Given the description of an element on the screen output the (x, y) to click on. 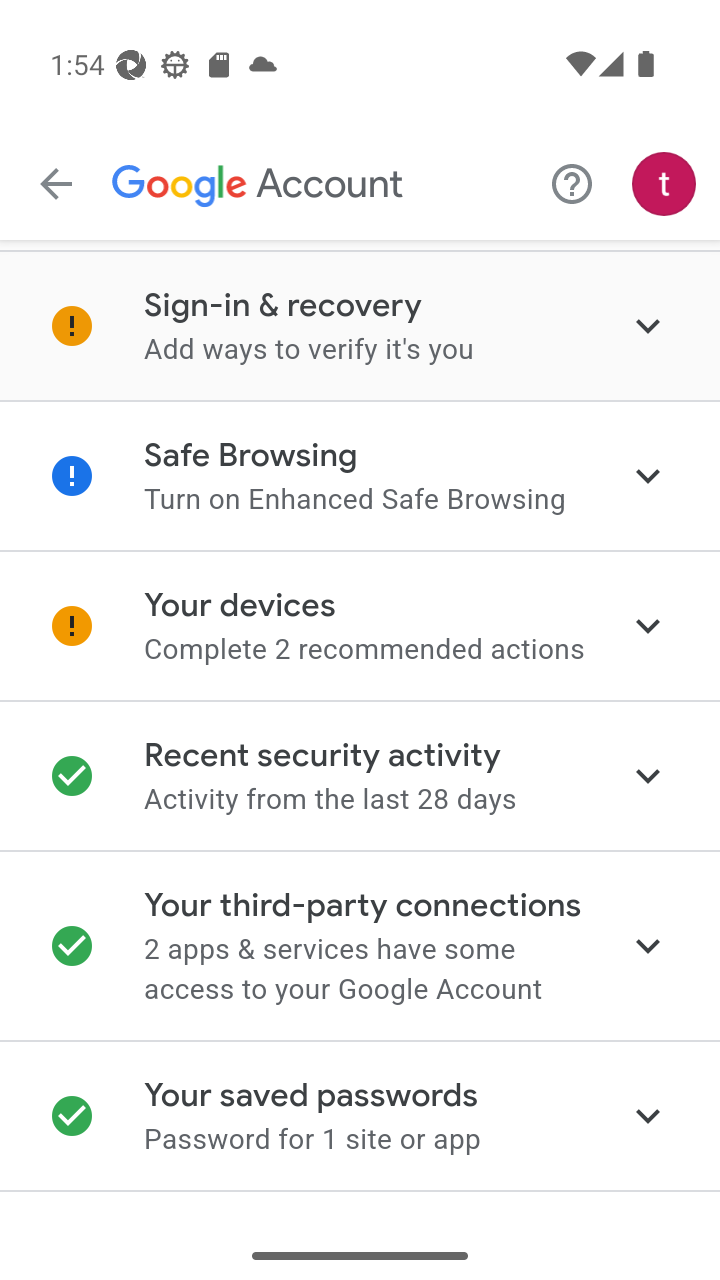
Navigate up (56, 184)
Help & feedback (571, 183)
Safe Browsing Turn on Enhanced Safe Browsing (360, 475)
Your saved passwords Password for 1 site or app (360, 1115)
